Given the description of an element on the screen output the (x, y) to click on. 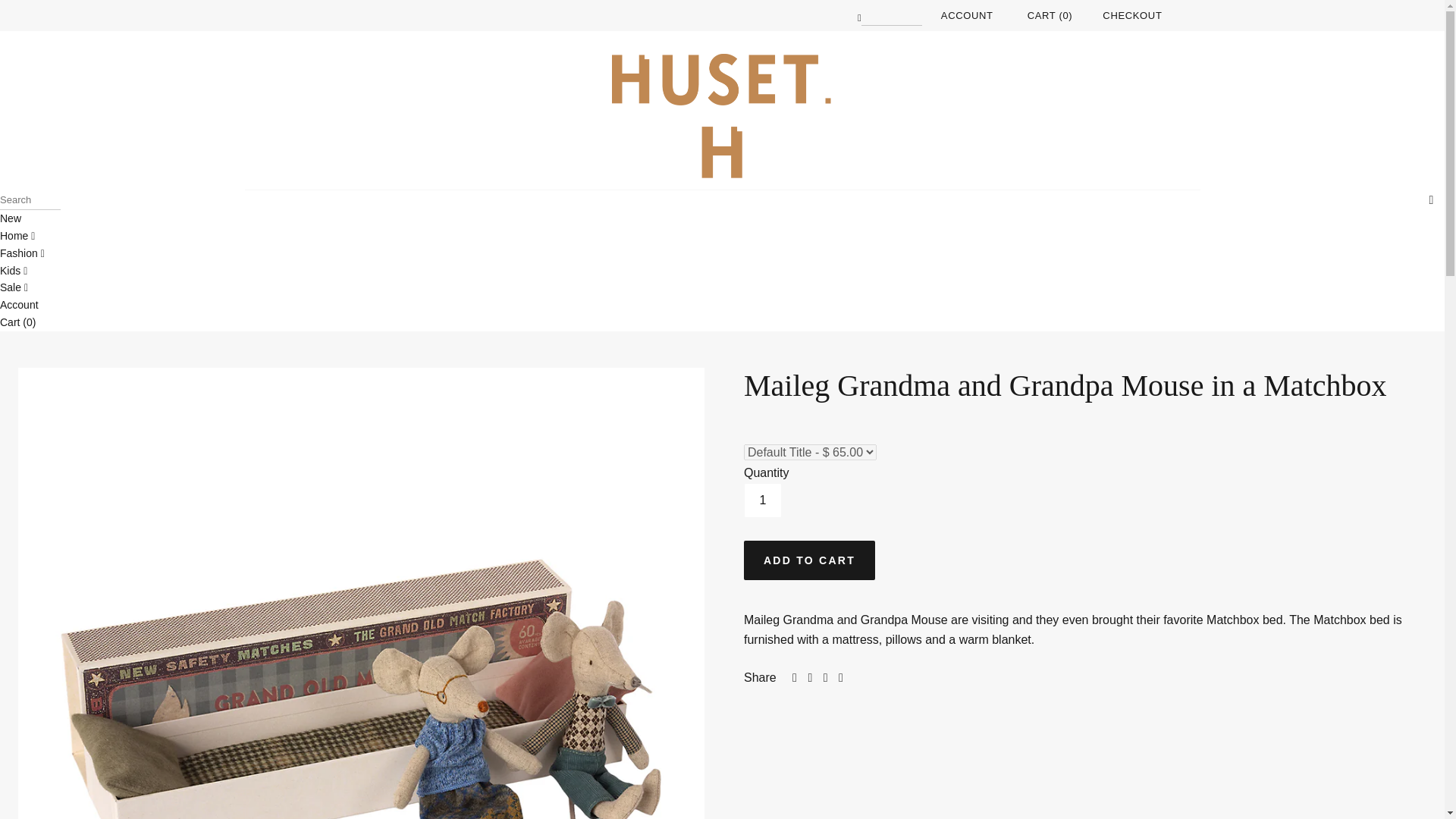
CHECKOUT (1131, 15)
ACCOUNT (966, 15)
1 (762, 500)
Add to cart (809, 559)
New (10, 218)
